Given the description of an element on the screen output the (x, y) to click on. 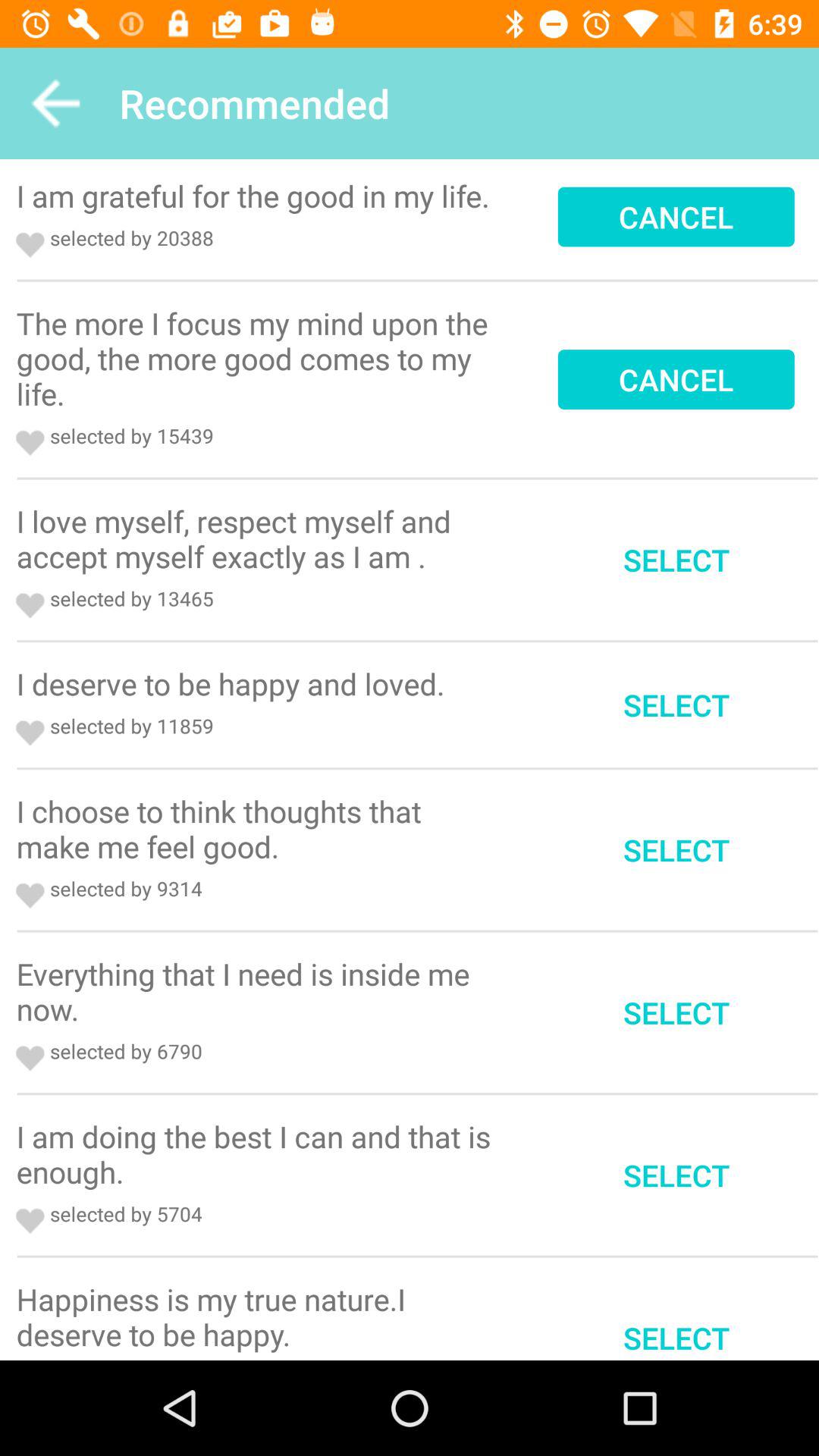
tap icon to the left of recommended app (55, 103)
